Given the description of an element on the screen output the (x, y) to click on. 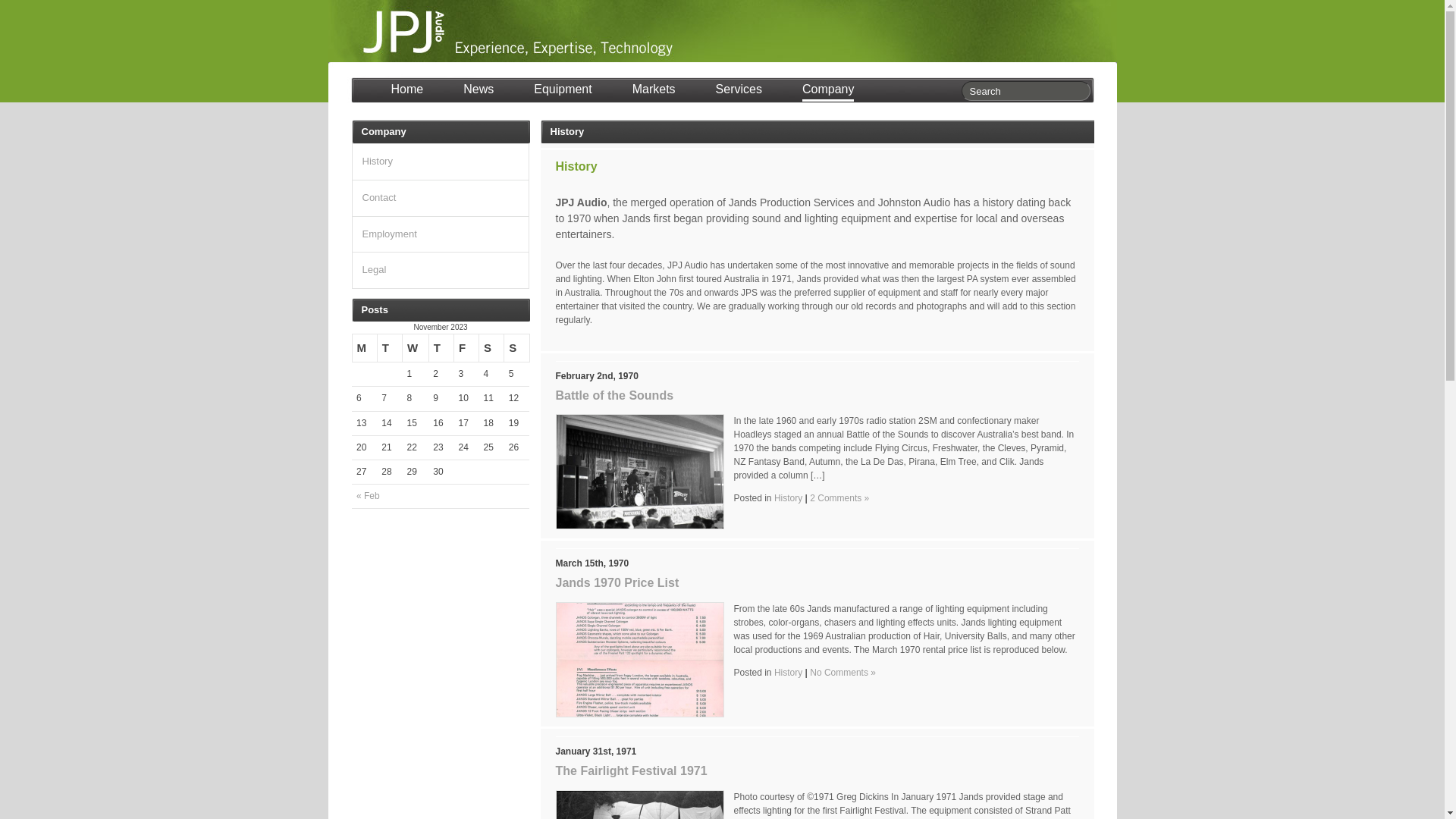
Company Element type: text (827, 91)
Home Element type: text (407, 91)
Battle of the Sounds Element type: text (614, 395)
Employment Element type: text (389, 233)
Services Element type: text (738, 91)
News Element type: text (478, 91)
Equipment Element type: text (562, 91)
History Element type: text (788, 672)
Contact Element type: text (379, 197)
History Element type: text (788, 497)
Markets Element type: text (653, 91)
Legal Element type: text (374, 269)
Jands 1970 Price List Element type: text (616, 582)
Search Element type: text (56, 8)
History Element type: text (377, 160)
The Fairlight Festival 1971 Element type: text (630, 770)
